Given the description of an element on the screen output the (x, y) to click on. 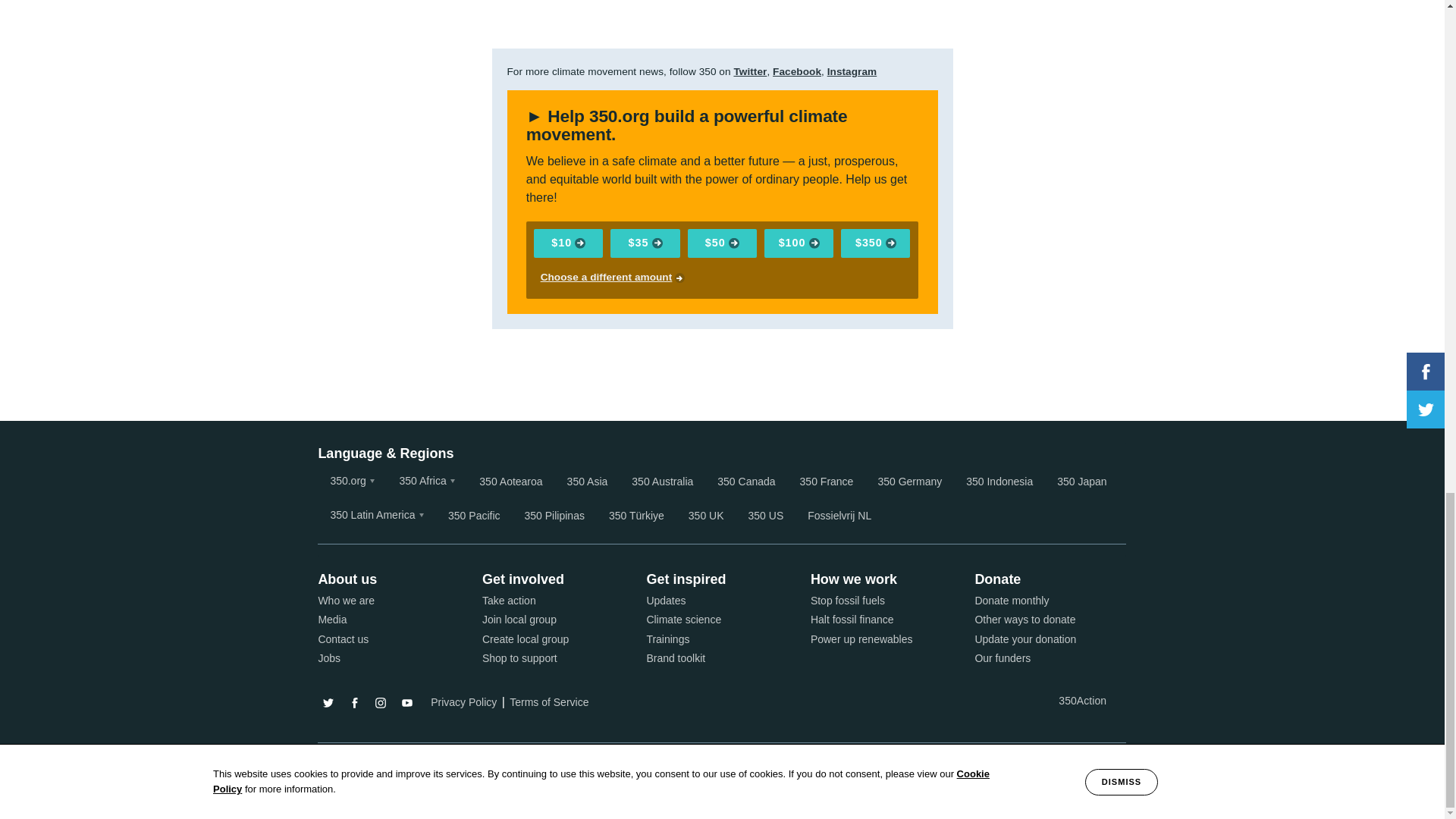
Facebook (797, 71)
Instagram (852, 71)
Twitter (750, 71)
